Given the description of an element on the screen output the (x, y) to click on. 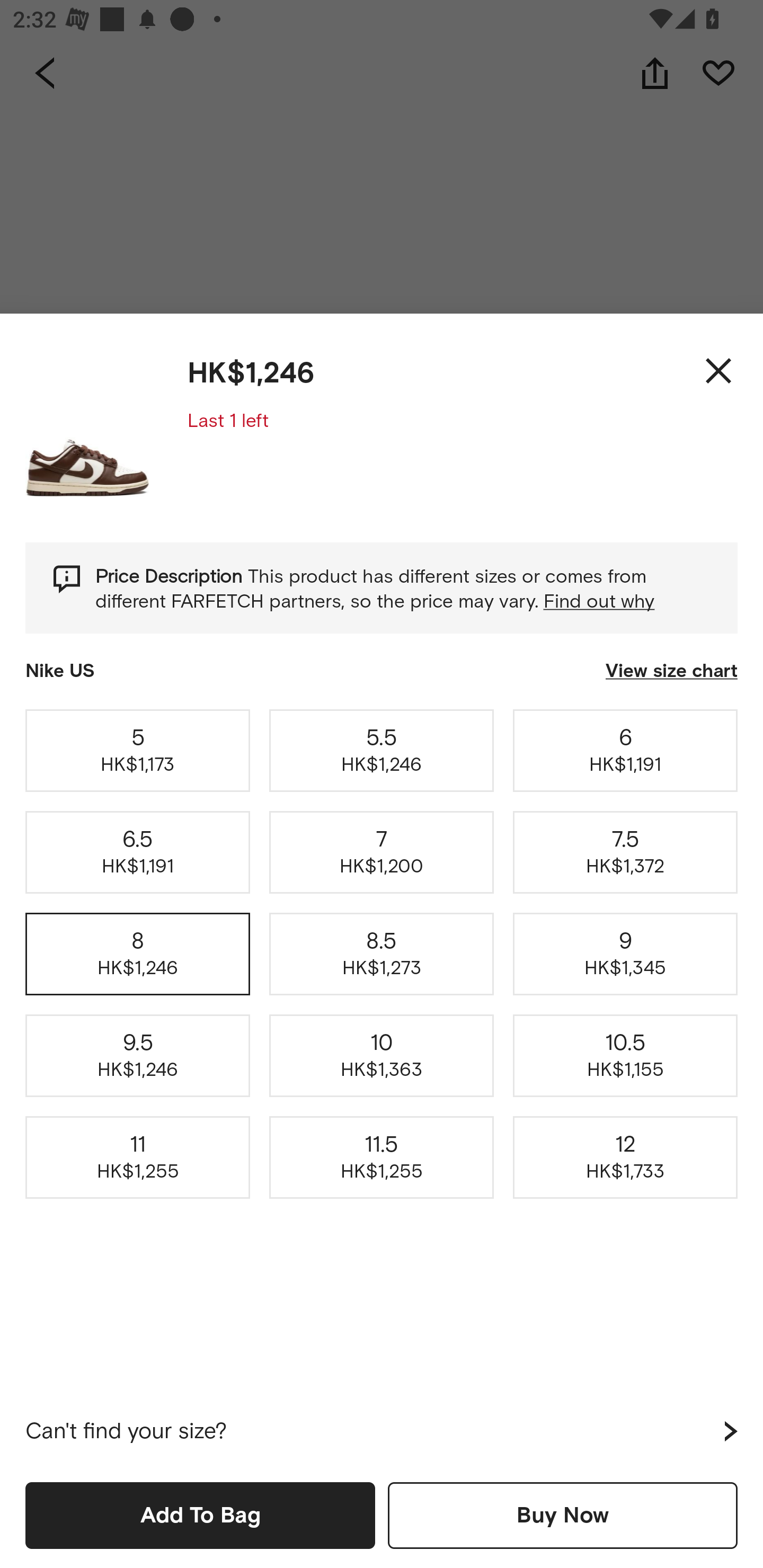
5 HK$1,173 (137, 749)
5.5 HK$1,246 (381, 749)
6 HK$1,191 (624, 749)
6.5 HK$1,191 (137, 851)
7 HK$1,200 (381, 851)
7.5 HK$1,372 (624, 851)
8 HK$1,246 (137, 953)
8.5 HK$1,273 (381, 953)
9 HK$1,345 (624, 953)
9.5 HK$1,246 (137, 1055)
10 HK$1,363 (381, 1055)
10.5 HK$1,155 (624, 1055)
11 HK$1,255 (137, 1157)
11.5 HK$1,255 (381, 1157)
12 HK$1,733 (624, 1157)
Can't find your size? (381, 1431)
Add To Bag (200, 1515)
Buy Now (562, 1515)
